Given the description of an element on the screen output the (x, y) to click on. 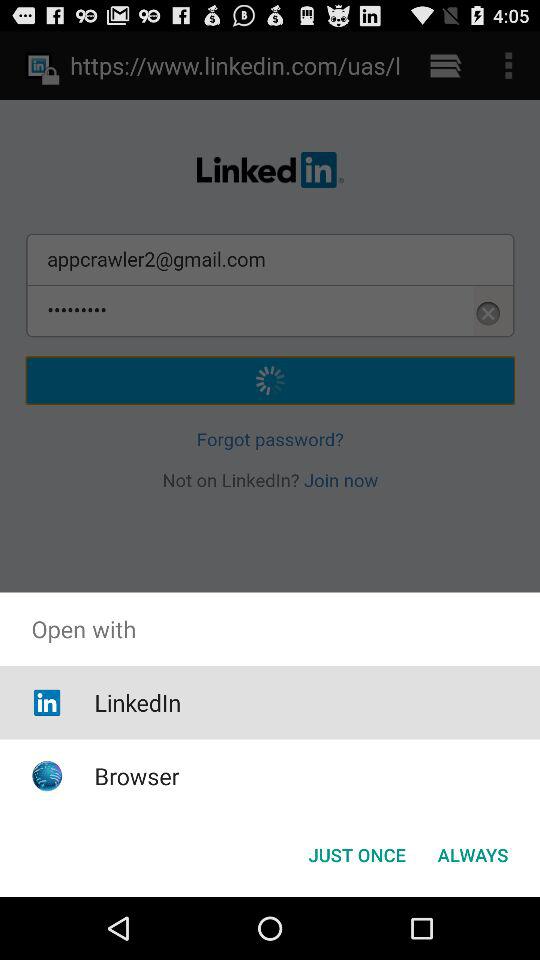
swipe to linkedin item (137, 702)
